Given the description of an element on the screen output the (x, y) to click on. 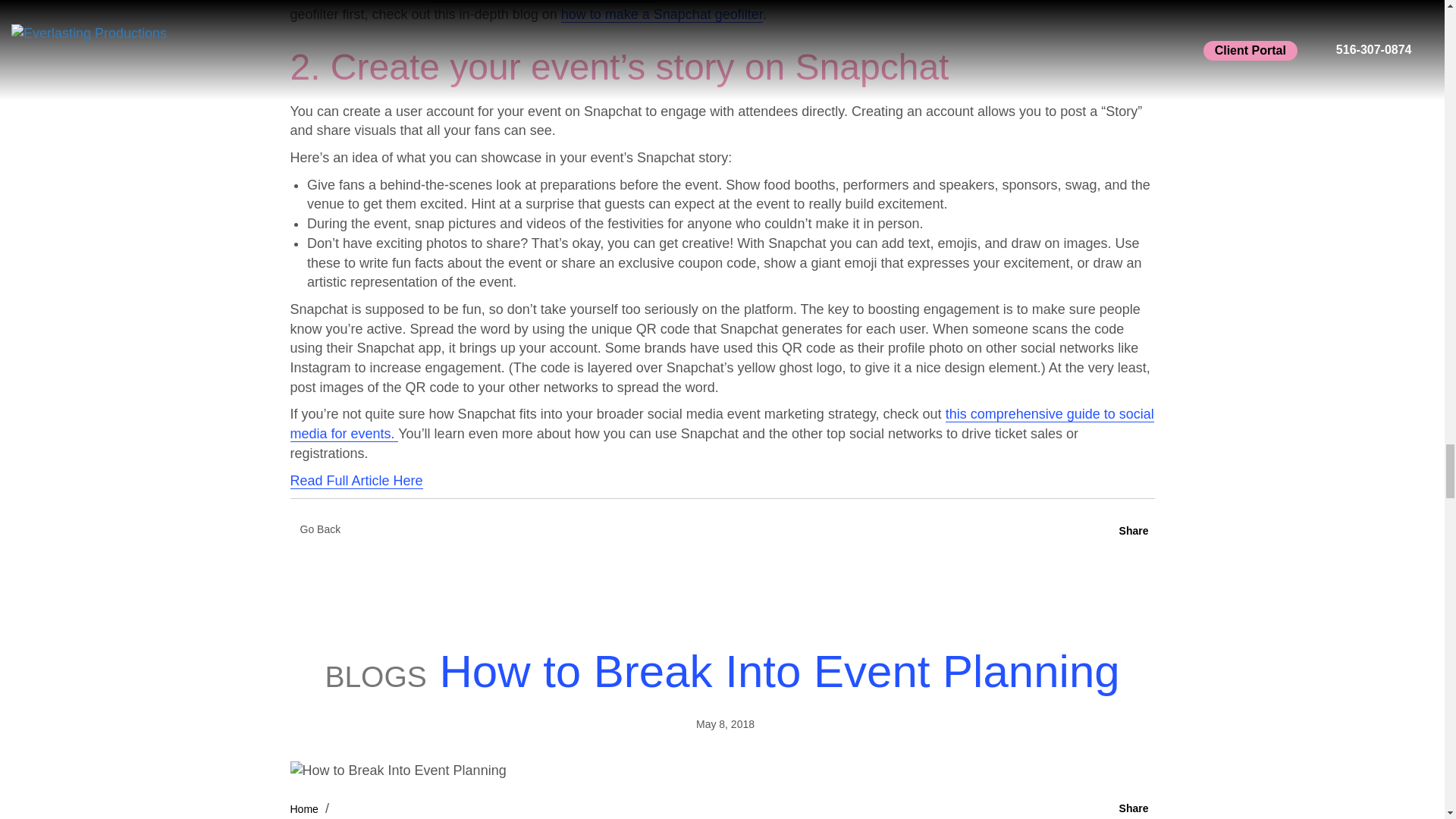
Go Back (319, 529)
Home (303, 808)
Read Full Article Here (355, 480)
this comprehensive guide to social media for events. (721, 423)
how to make a Snapchat geofilter (661, 14)
